Given the description of an element on the screen output the (x, y) to click on. 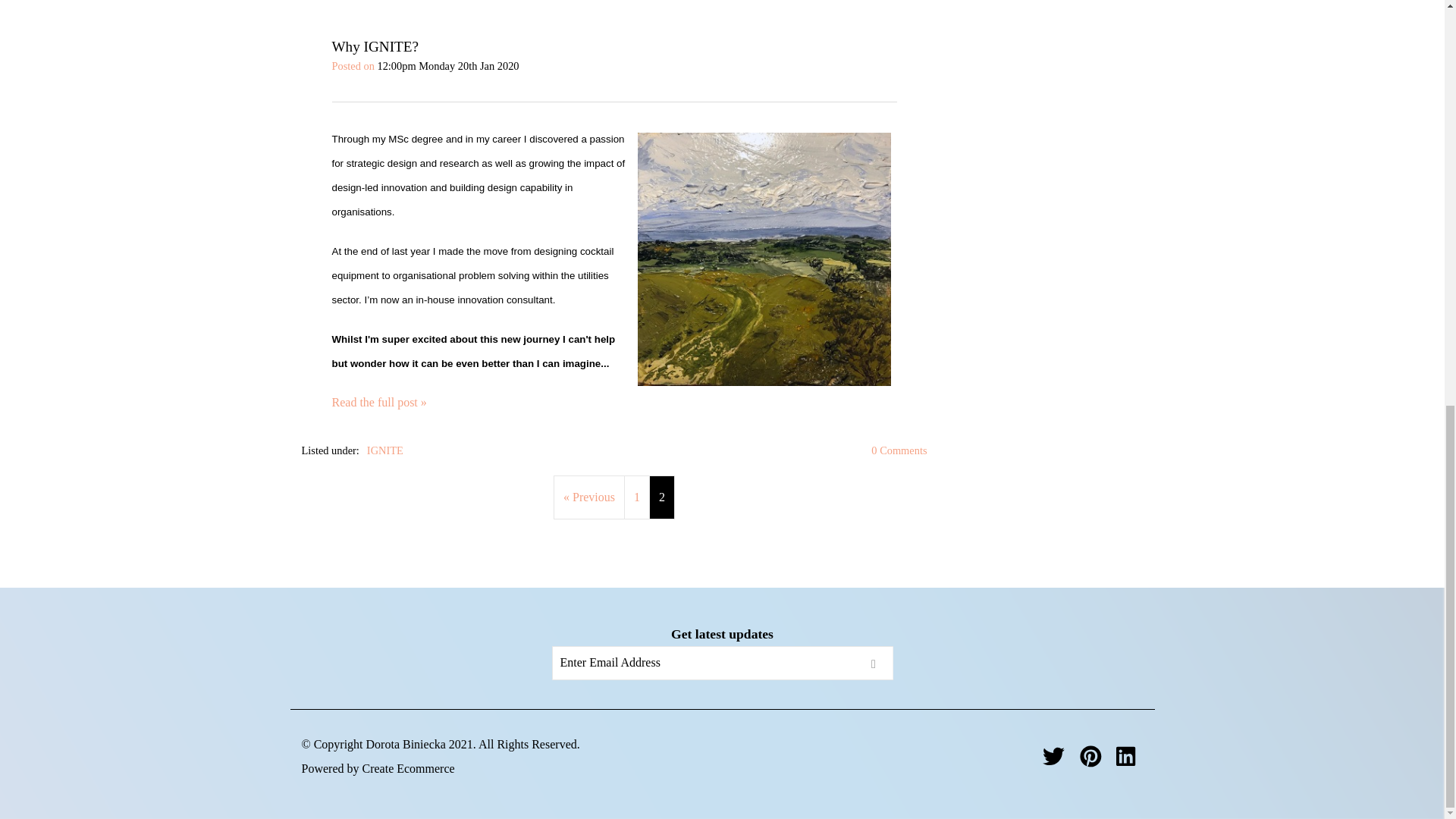
twitter (1053, 759)
twitter (1053, 756)
linkedin (1125, 759)
Sign Up (874, 663)
pinterest (1091, 759)
IGNITE (384, 450)
Create Ecommerce (407, 768)
twitter (1053, 756)
pinterest (1091, 756)
0 Comments (898, 450)
Journey (763, 259)
pinterest (1091, 756)
Create Ecommerce (407, 768)
